Given the description of an element on the screen output the (x, y) to click on. 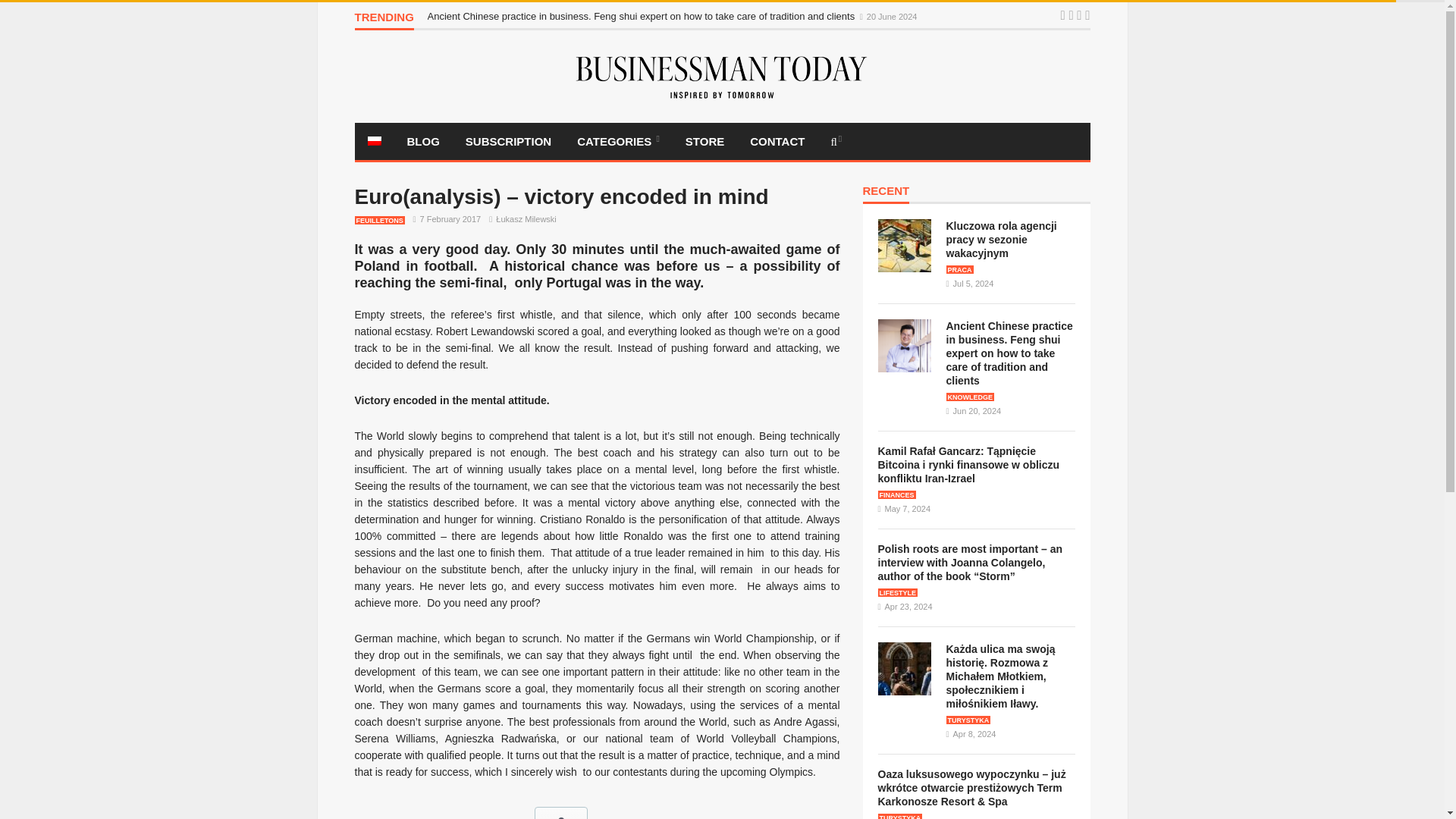
Contact (776, 140)
CATEGORIES (618, 140)
Blog (423, 140)
Praca (960, 269)
Store (704, 140)
TRENDING (384, 20)
Subscription (508, 140)
SUBSCRIPTION (508, 140)
polski (373, 140)
Feuilletons (379, 220)
Categories (618, 140)
BLOG (423, 140)
